Given the description of an element on the screen output the (x, y) to click on. 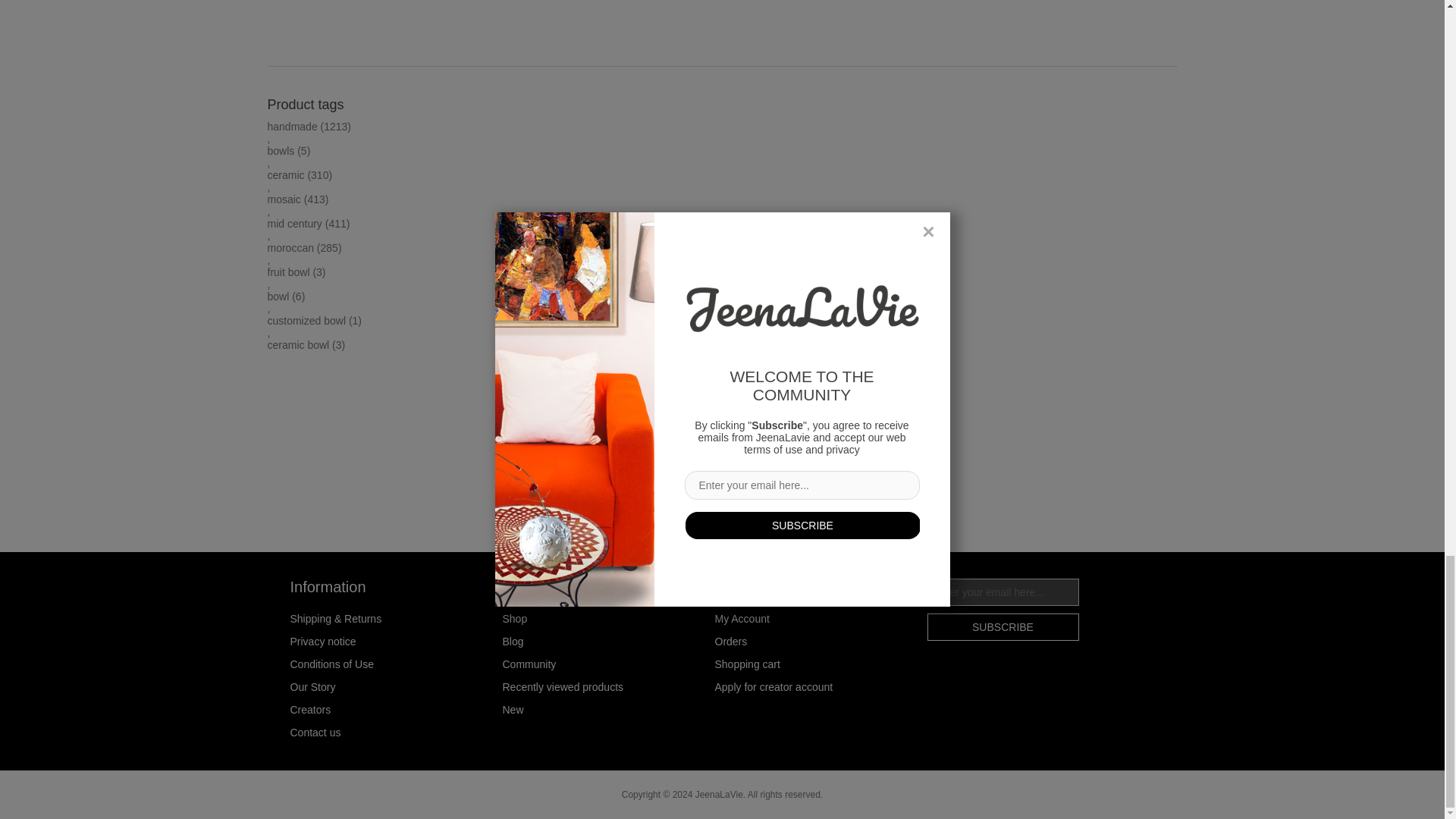
SUBSCRIBE (1002, 626)
